Given the description of an element on the screen output the (x, y) to click on. 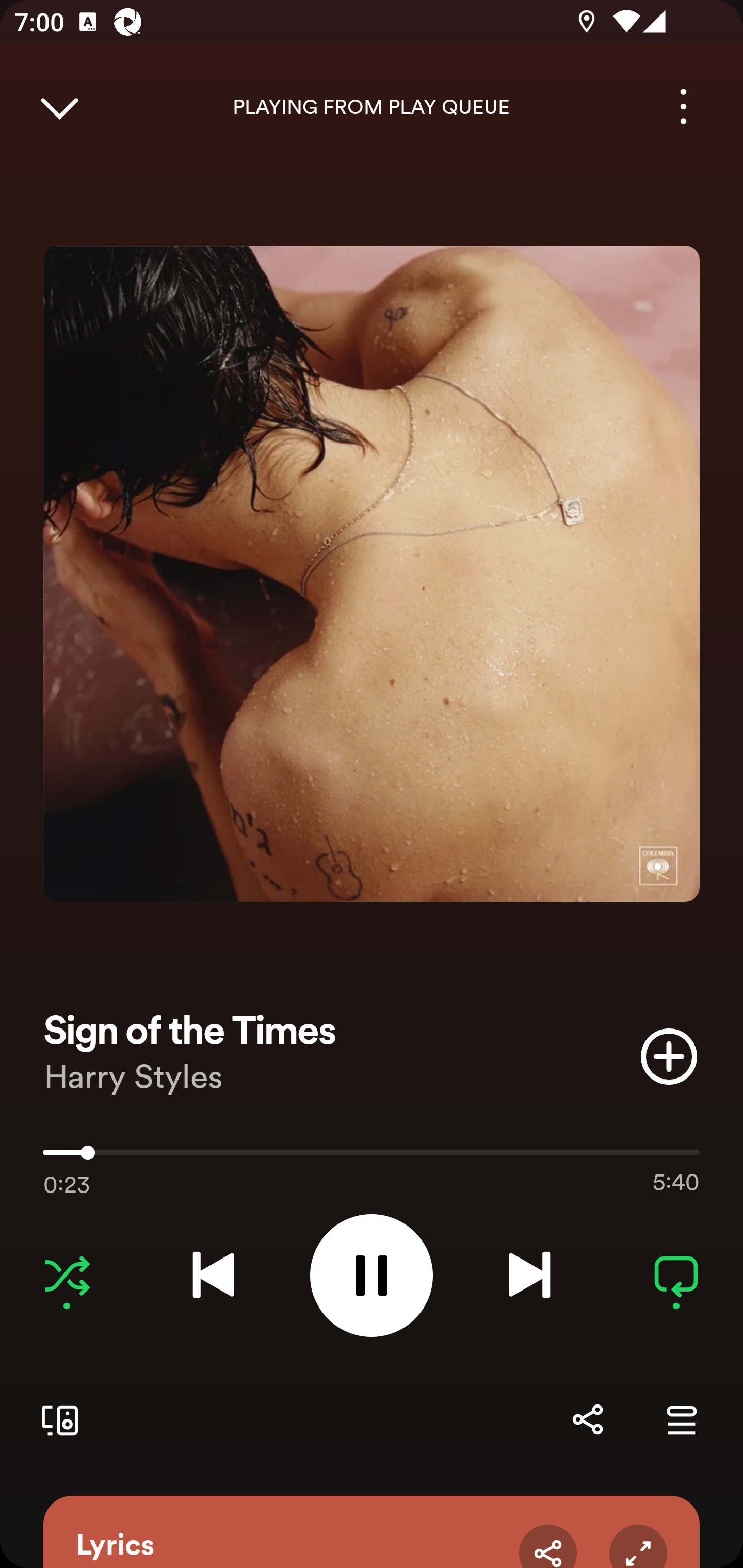
Close (59, 106)
More options for song Sign of the Times (683, 106)
PLAYING FROM PLAY QUEUE (371, 107)
Add item (669, 1056)
0:22 5:40 22562.0 Use volume keys to adjust (371, 1157)
Pause (371, 1275)
Previous (212, 1275)
Next (529, 1275)
Stop shuffling tracks (66, 1275)
Repeat (676, 1275)
Share (587, 1419)
Go to Queue (681, 1419)
Connect to a device. Opens the devices menu (55, 1419)
Lyrics Share Expand (371, 1531)
Share (547, 1546)
Expand (638, 1546)
